Given the description of an element on the screen output the (x, y) to click on. 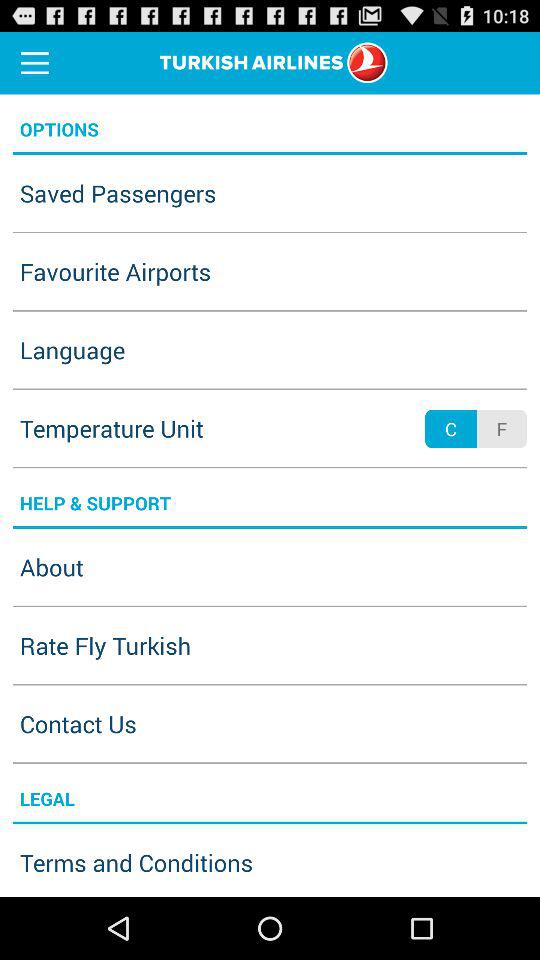
turn on the item next to the c icon (501, 428)
